Given the description of an element on the screen output the (x, y) to click on. 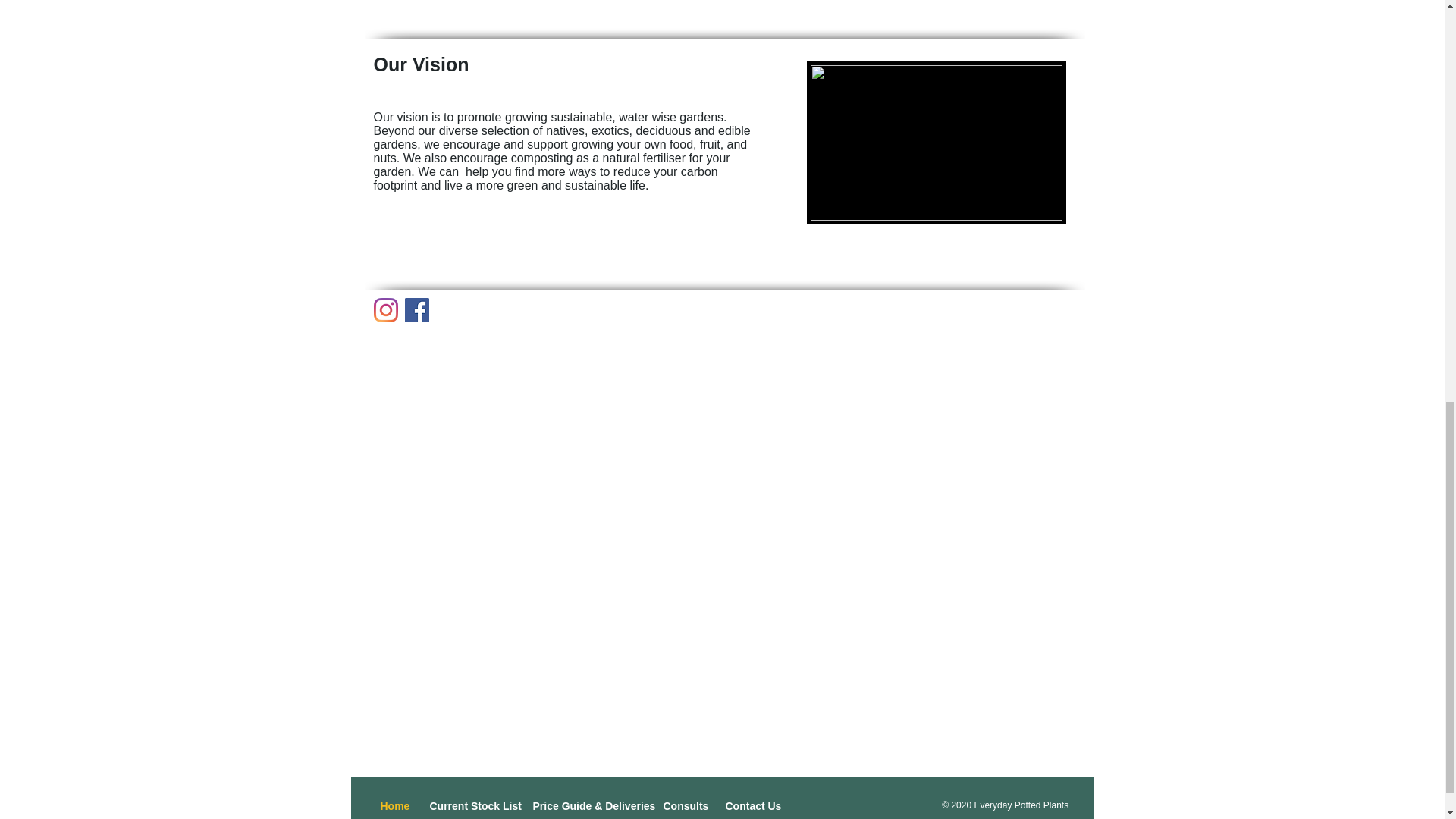
Consults (683, 805)
Home (392, 805)
Current Stock List (470, 805)
Contact Us (750, 805)
